Given the description of an element on the screen output the (x, y) to click on. 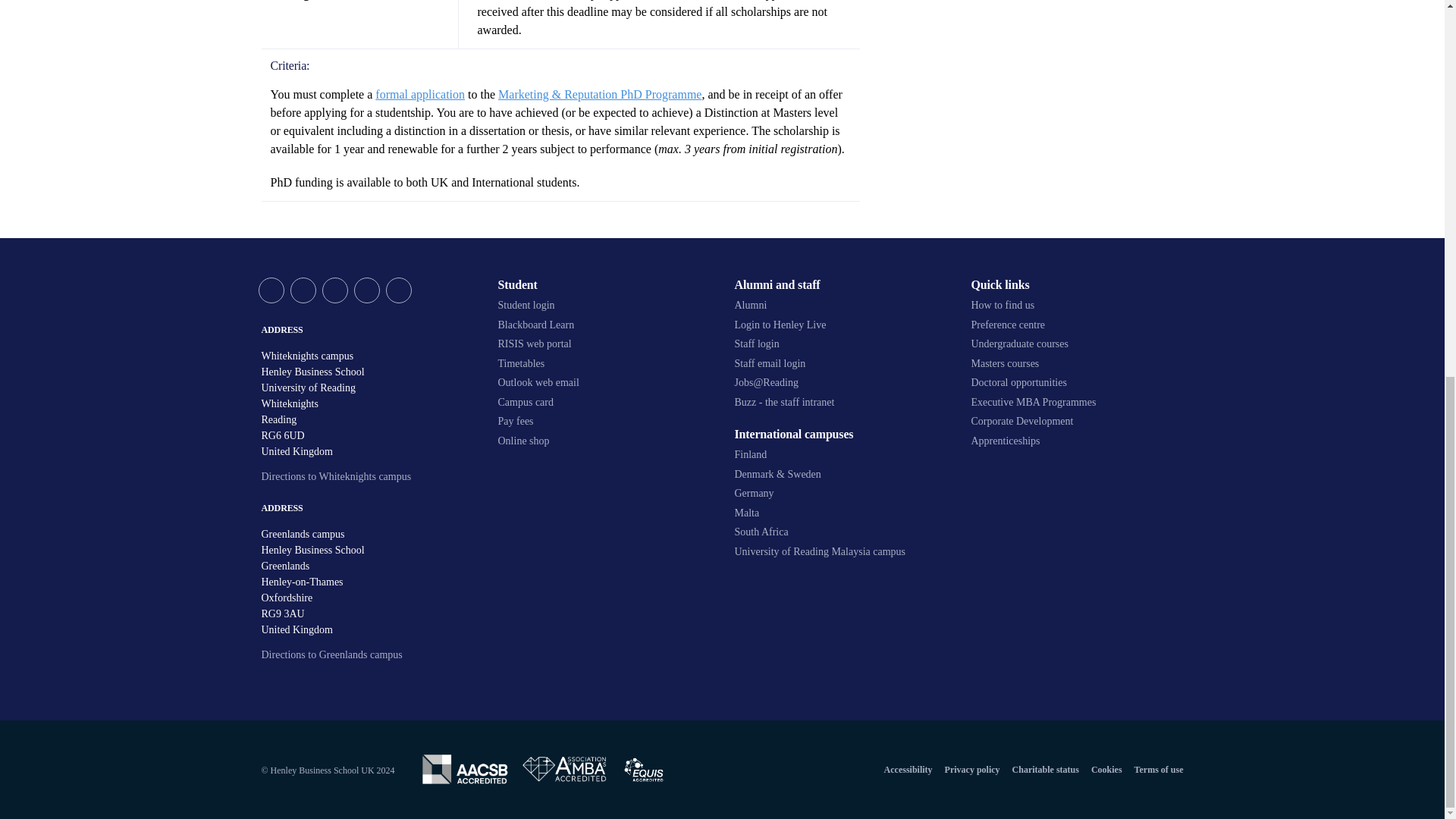
Facebook (302, 290)
Corporate Development (1076, 421)
formal application (419, 93)
Staff email login (839, 364)
Staff login (839, 344)
Undergraduate courses (1076, 344)
University of Reading Malaysia campus (839, 551)
Finland (839, 454)
Online shop (603, 440)
Linkedin (365, 290)
Germany (839, 493)
Directions to Greenlands campus (330, 654)
Outlook web email (603, 382)
Masters courses (1076, 364)
Pay fees (603, 421)
